Given the description of an element on the screen output the (x, y) to click on. 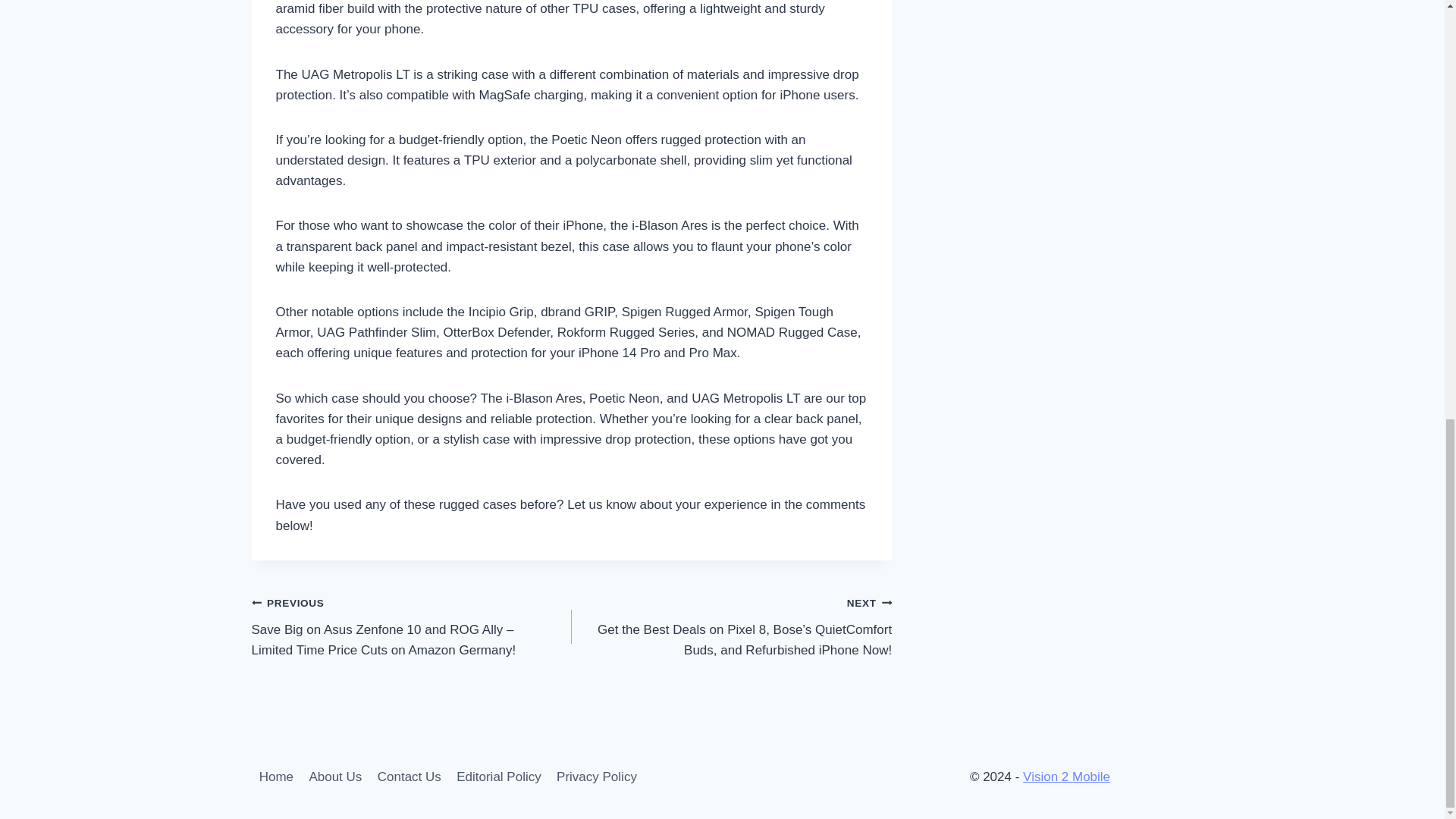
About Us (335, 776)
Contact Us (408, 776)
Editorial Policy (498, 776)
Home (276, 776)
Privacy Policy (596, 776)
Vision 2 Mobile (1066, 776)
